Given the description of an element on the screen output the (x, y) to click on. 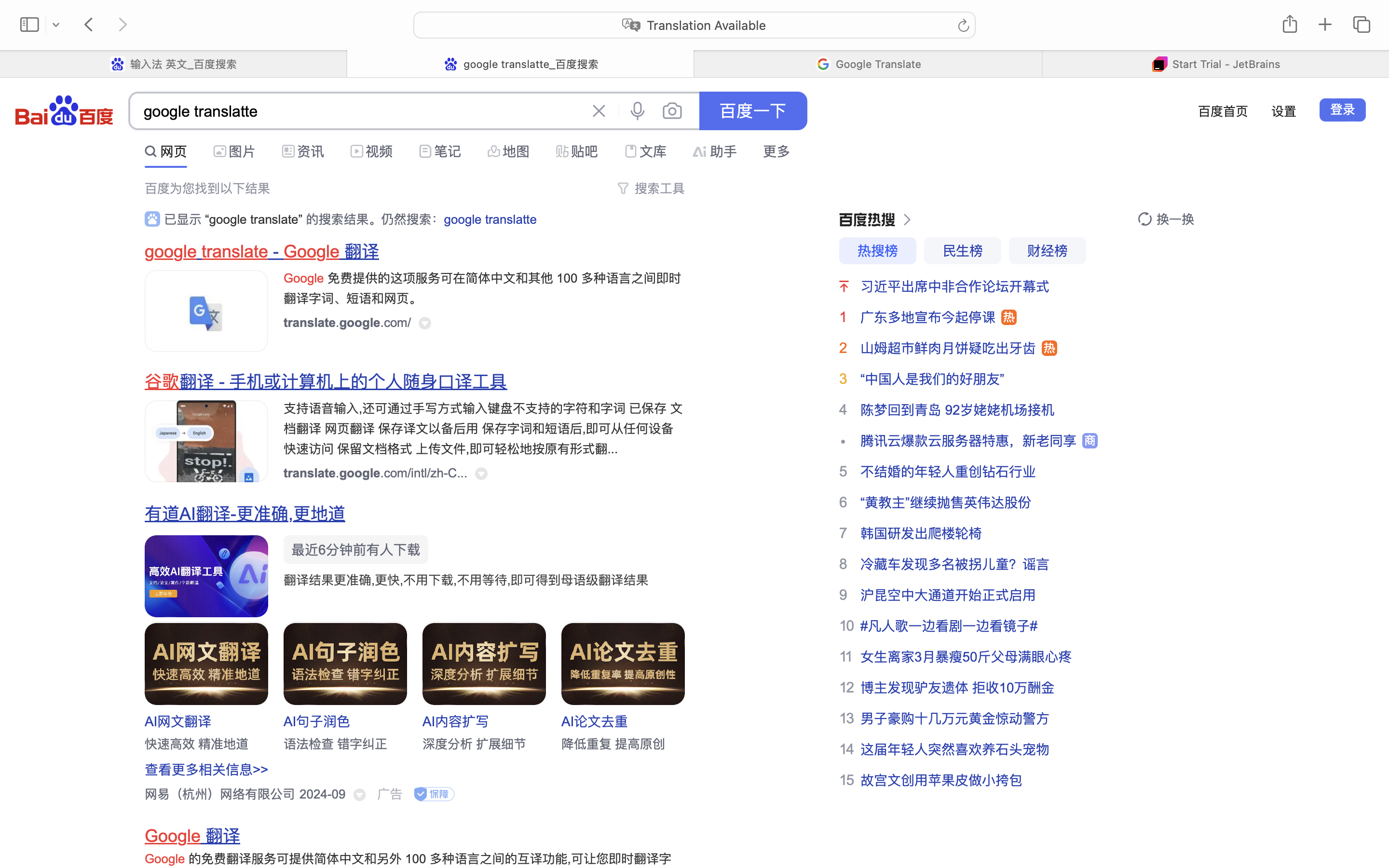
助手 Element type: AXStaticText (722, 151)
4 Element type: AXStaticText (842, 409)
最近6分钟前有人下载 Element type: AXStaticText (355, 549)
免费提供的这项服务可在简体中文和其他 100 多种语言之间即时翻译字词、短语和网页。 Element type: AXStaticText (482, 288)
更多 Element type: AXStaticText (775, 151)
